Given the description of an element on the screen output the (x, y) to click on. 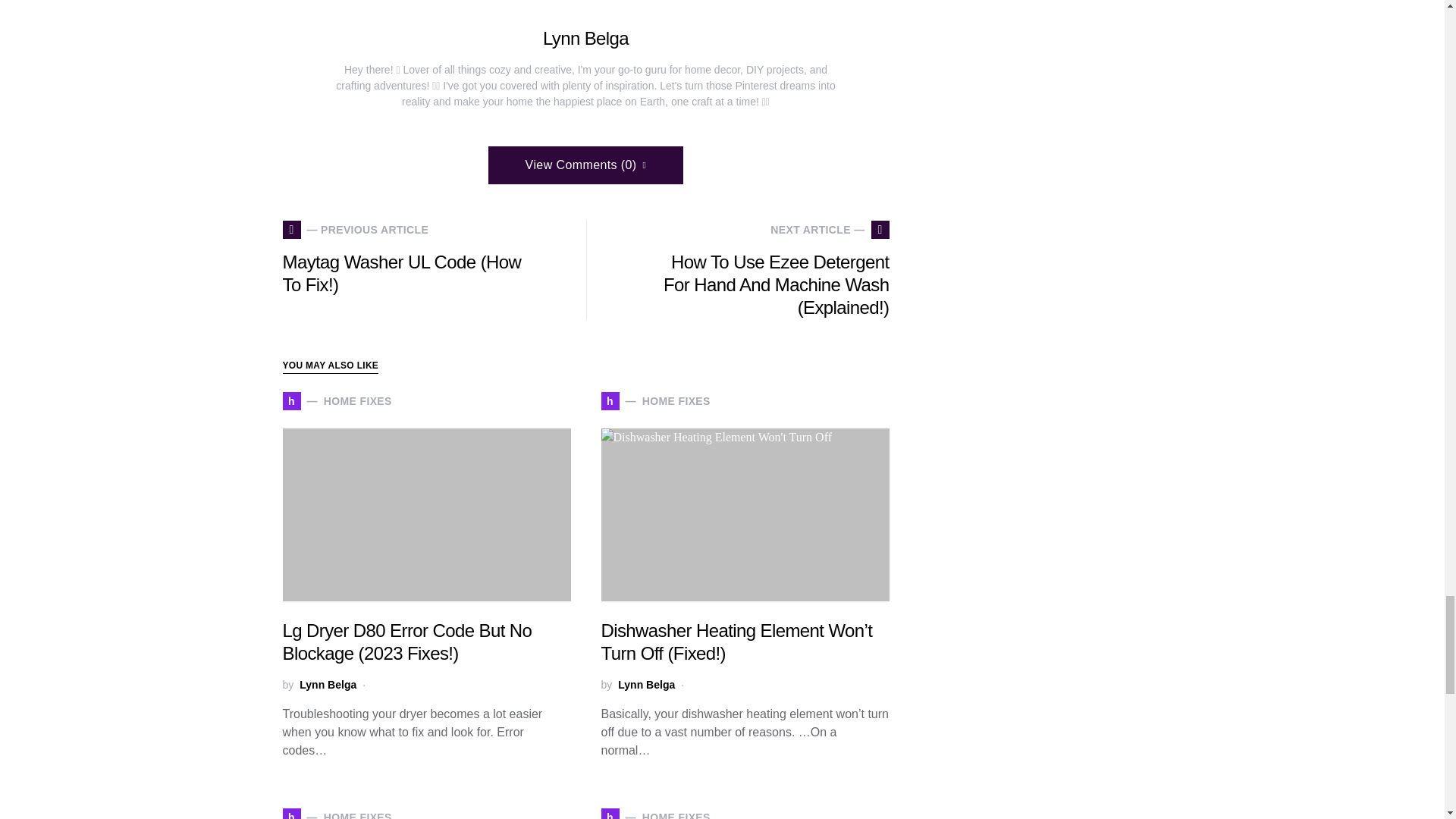
View all posts by Lynn Belga (336, 401)
View all posts by Lynn Belga (654, 401)
Lynn Belga (327, 684)
Lynn Belga (646, 684)
